Given the description of an element on the screen output the (x, y) to click on. 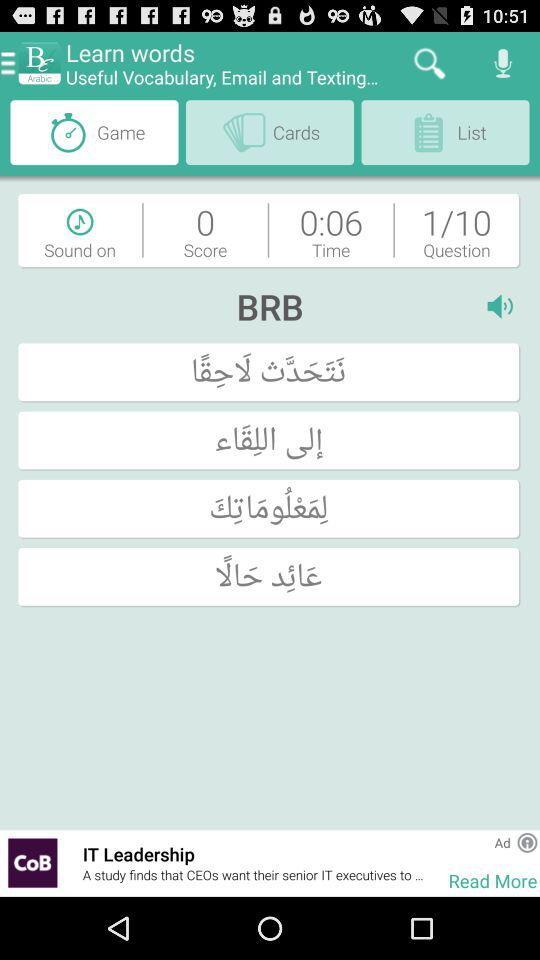
open item to the right of it leadership icon (436, 862)
